Given the description of an element on the screen output the (x, y) to click on. 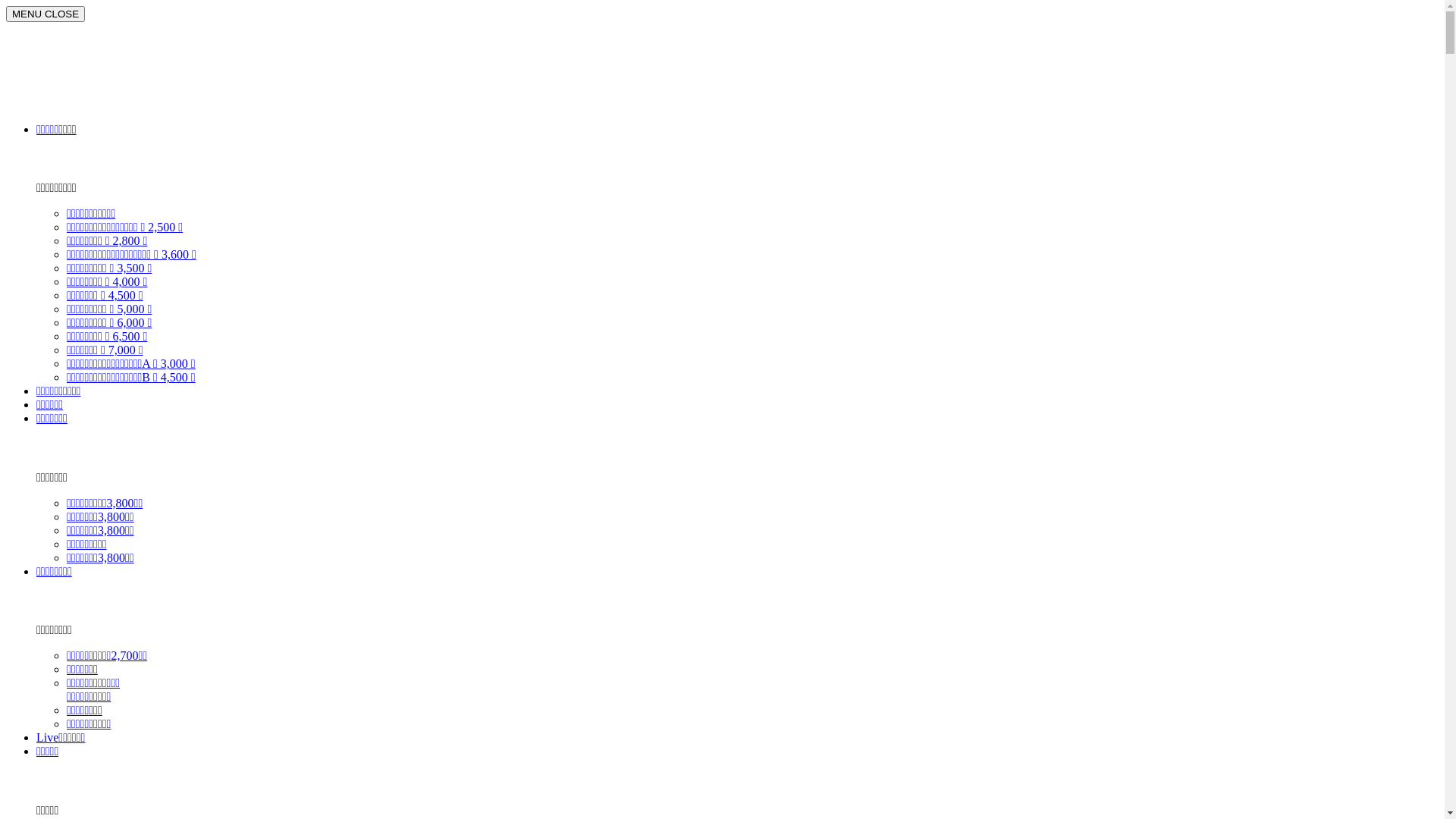
MENU CLOSE Element type: text (45, 13)
